Given the description of an element on the screen output the (x, y) to click on. 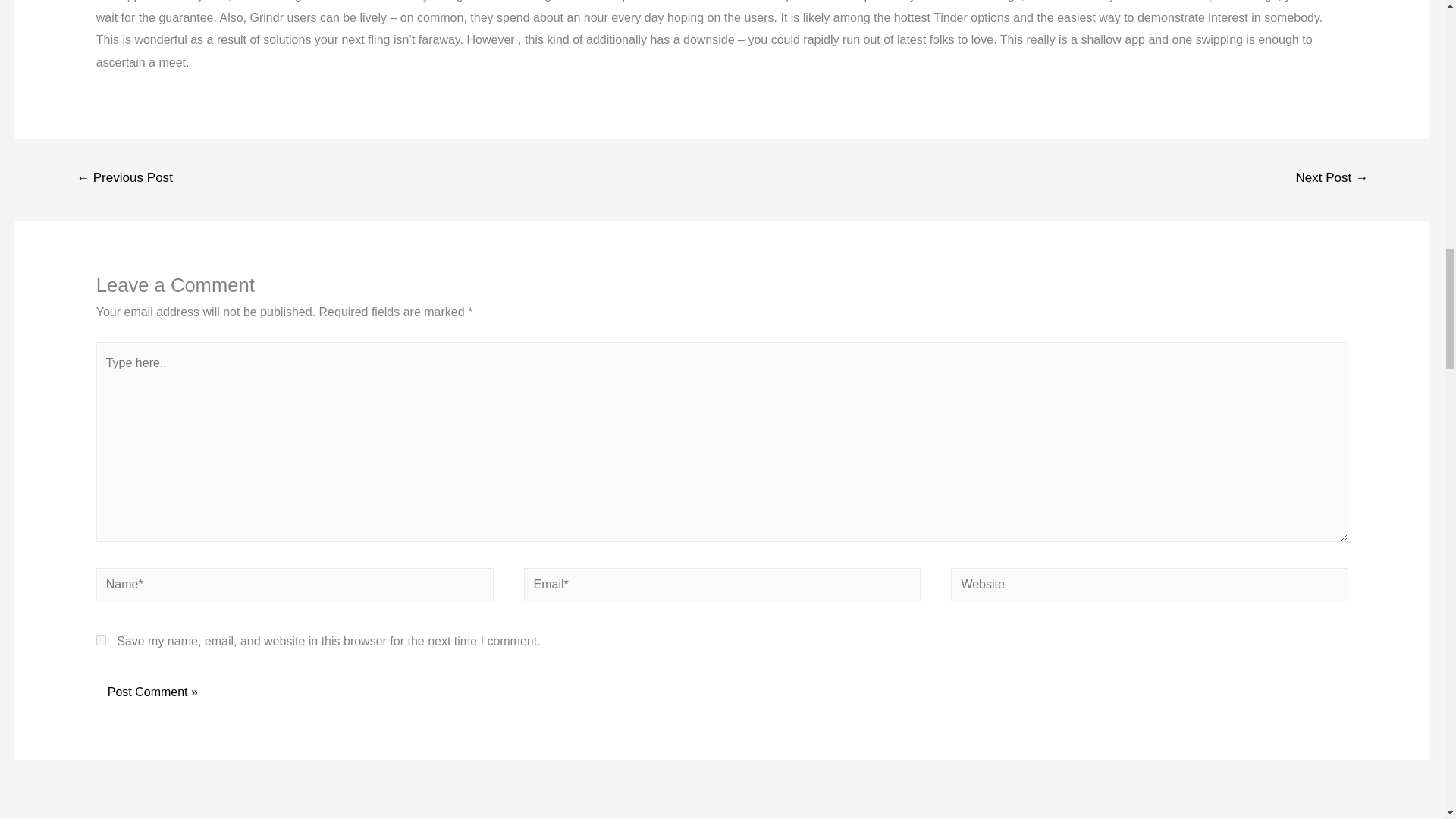
yes (101, 640)
